Given the description of an element on the screen output the (x, y) to click on. 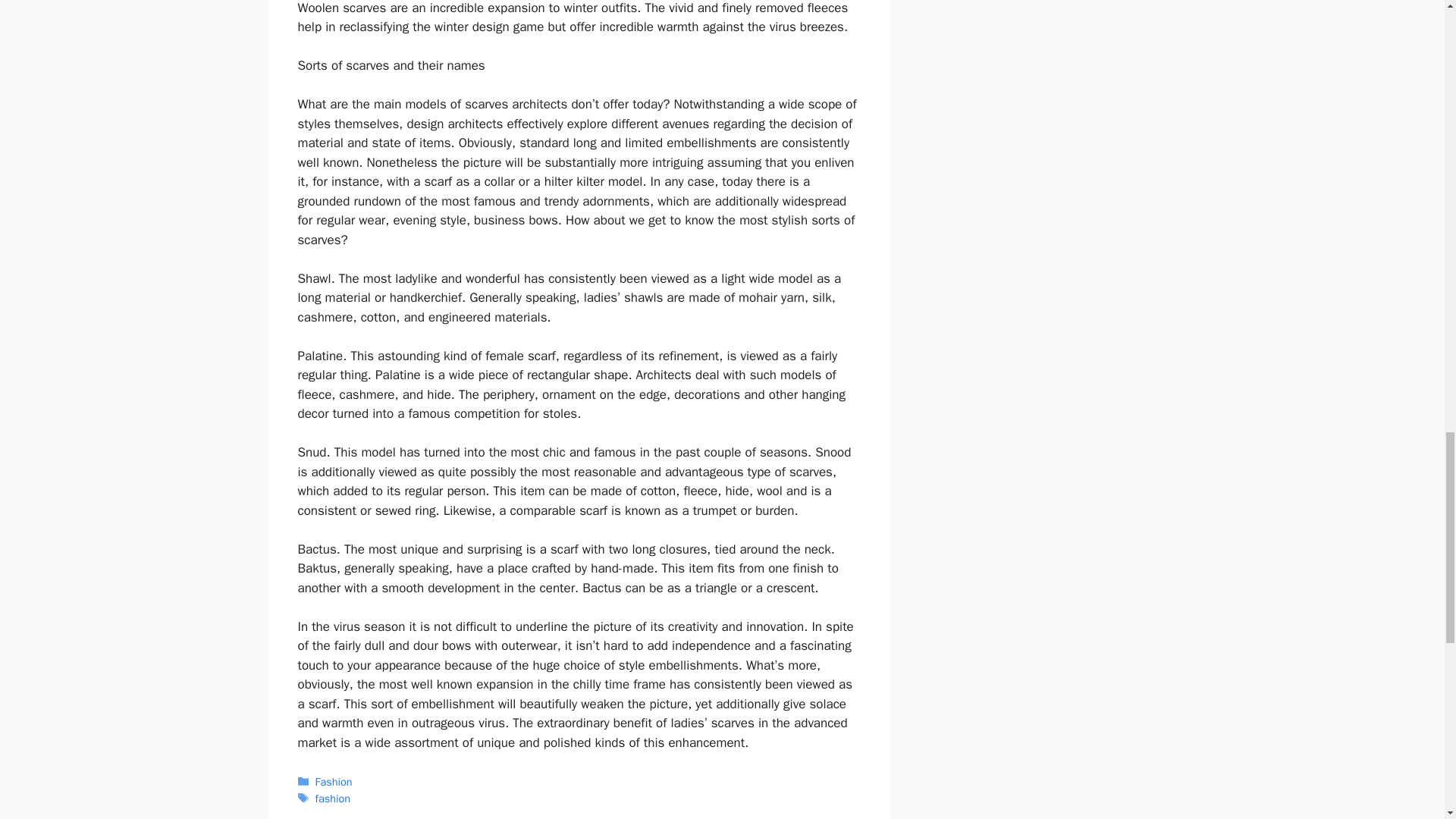
fashion (332, 798)
Fashion (333, 781)
